Given the description of an element on the screen output the (x, y) to click on. 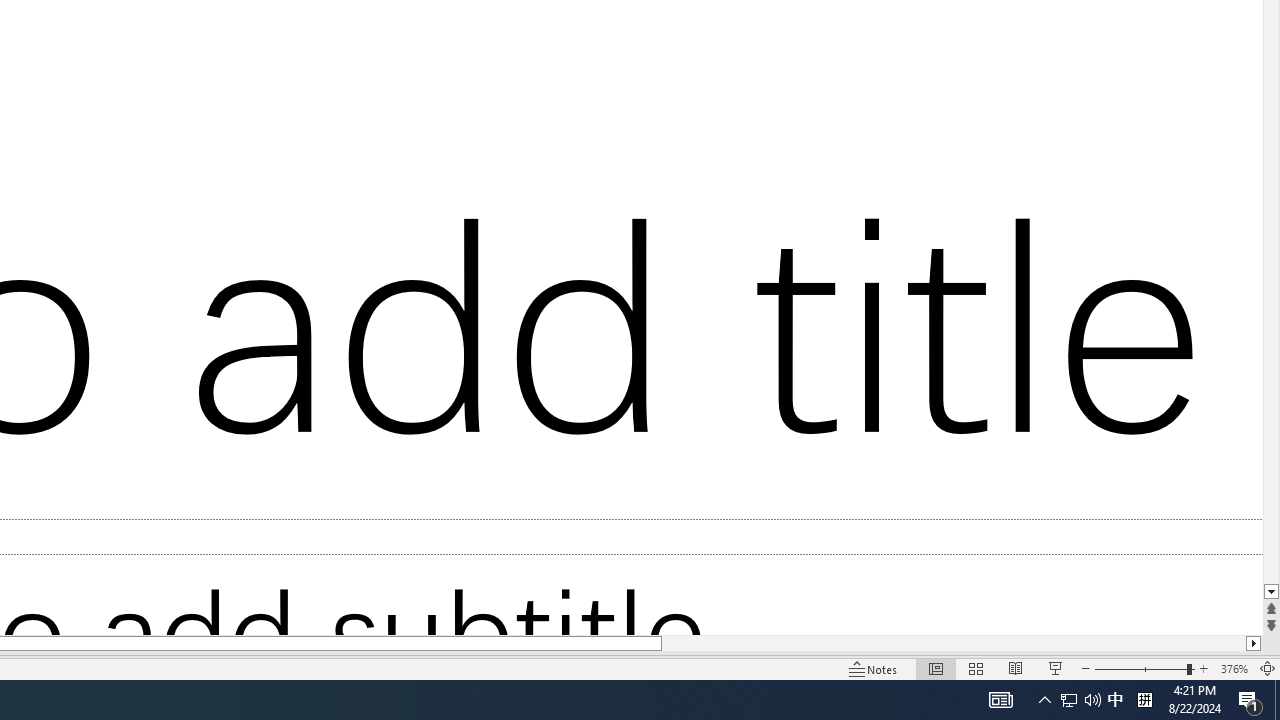
Zoom 376% (1234, 668)
